Given the description of an element on the screen output the (x, y) to click on. 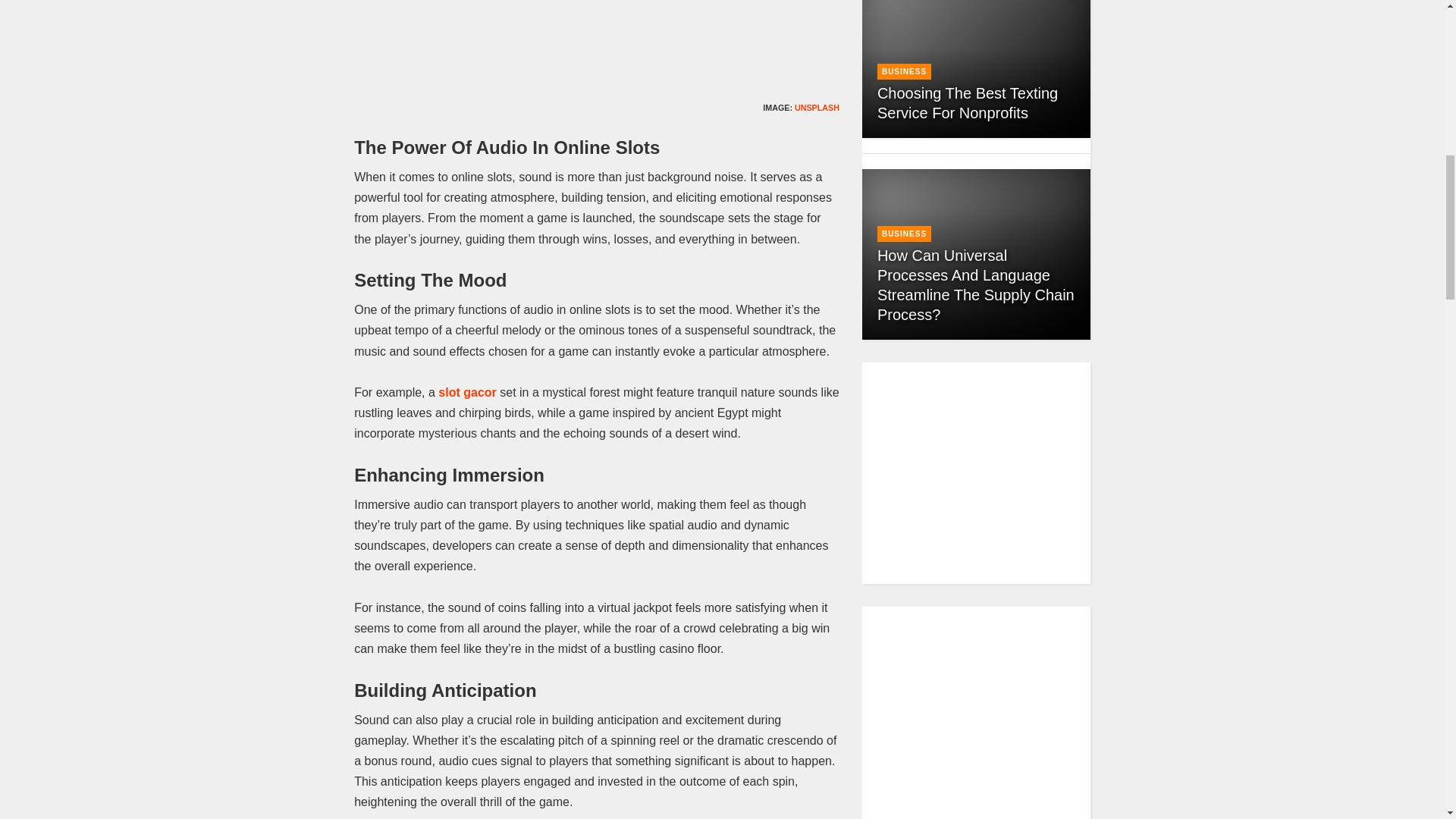
slot gacor (467, 391)
UNSPLASH (817, 107)
Choosing The Best Texting Service For Nonprofits (967, 103)
